Given the description of an element on the screen output the (x, y) to click on. 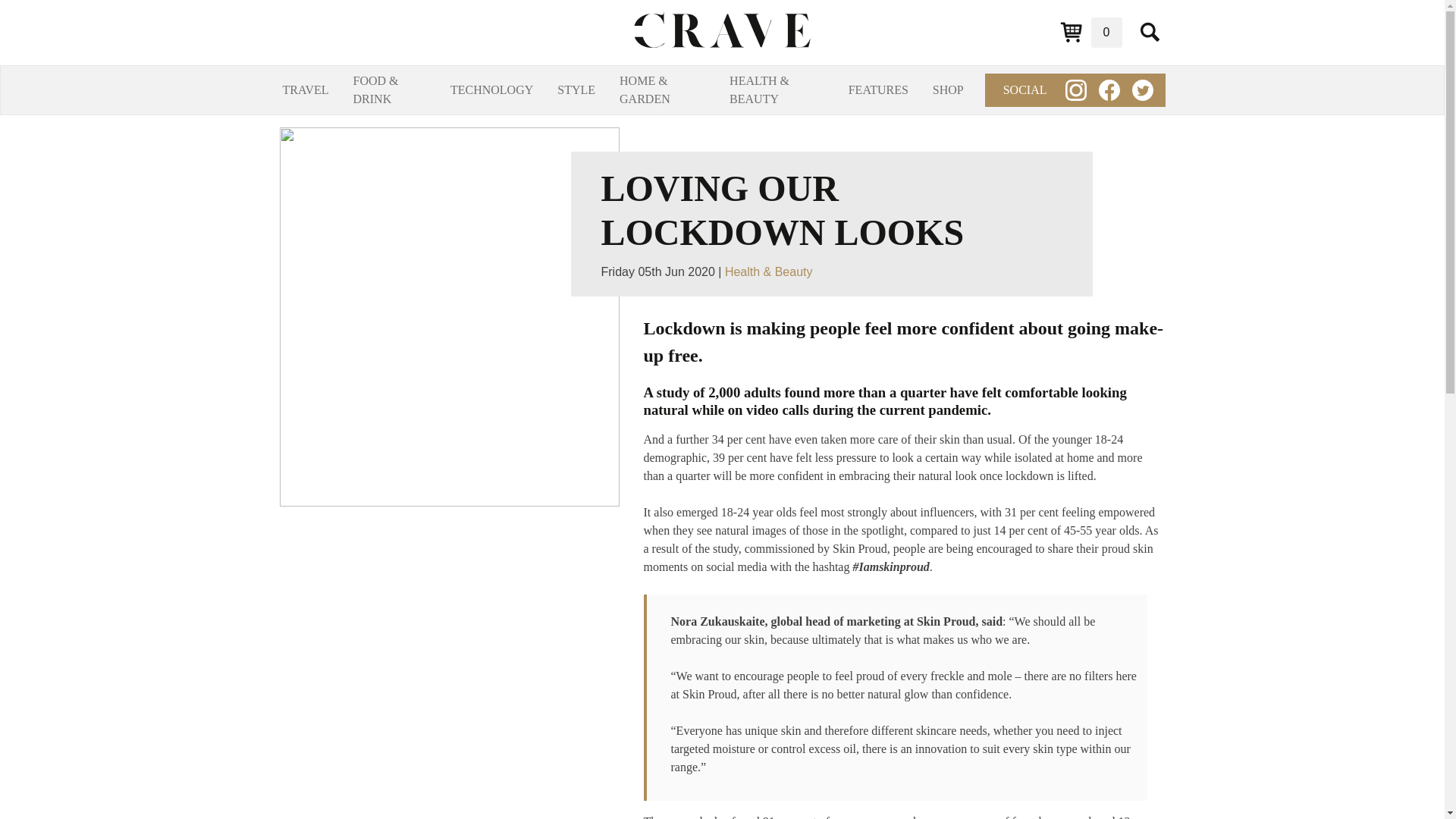
TRAVEL (305, 89)
SHOP (948, 89)
Cart View (1090, 32)
0 (1090, 32)
TECHNOLOGY (490, 89)
FEATURES (878, 89)
STYLE (576, 89)
